Given the description of an element on the screen output the (x, y) to click on. 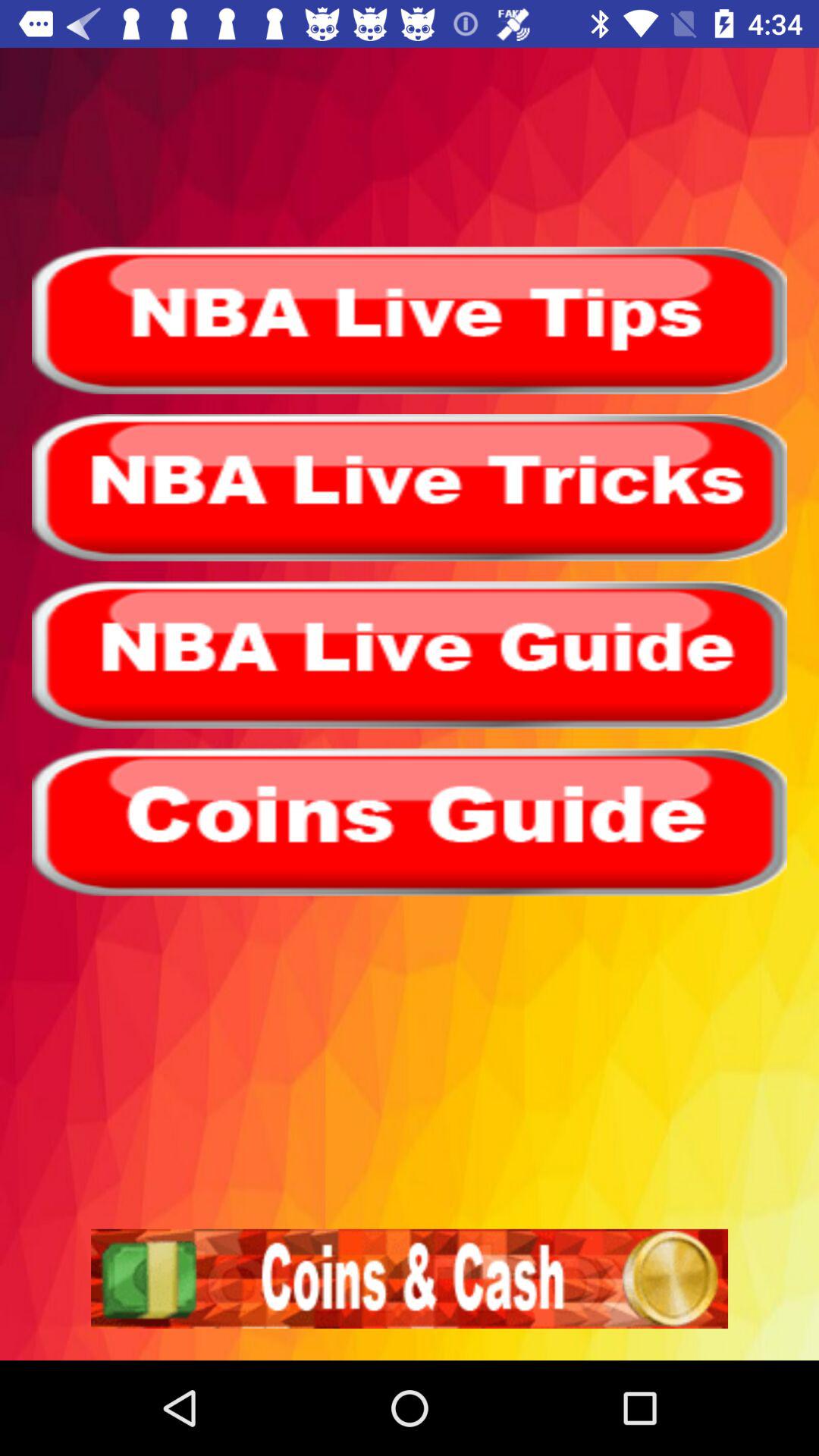
go to cash and coin advertisement (409, 1278)
